Given the description of an element on the screen output the (x, y) to click on. 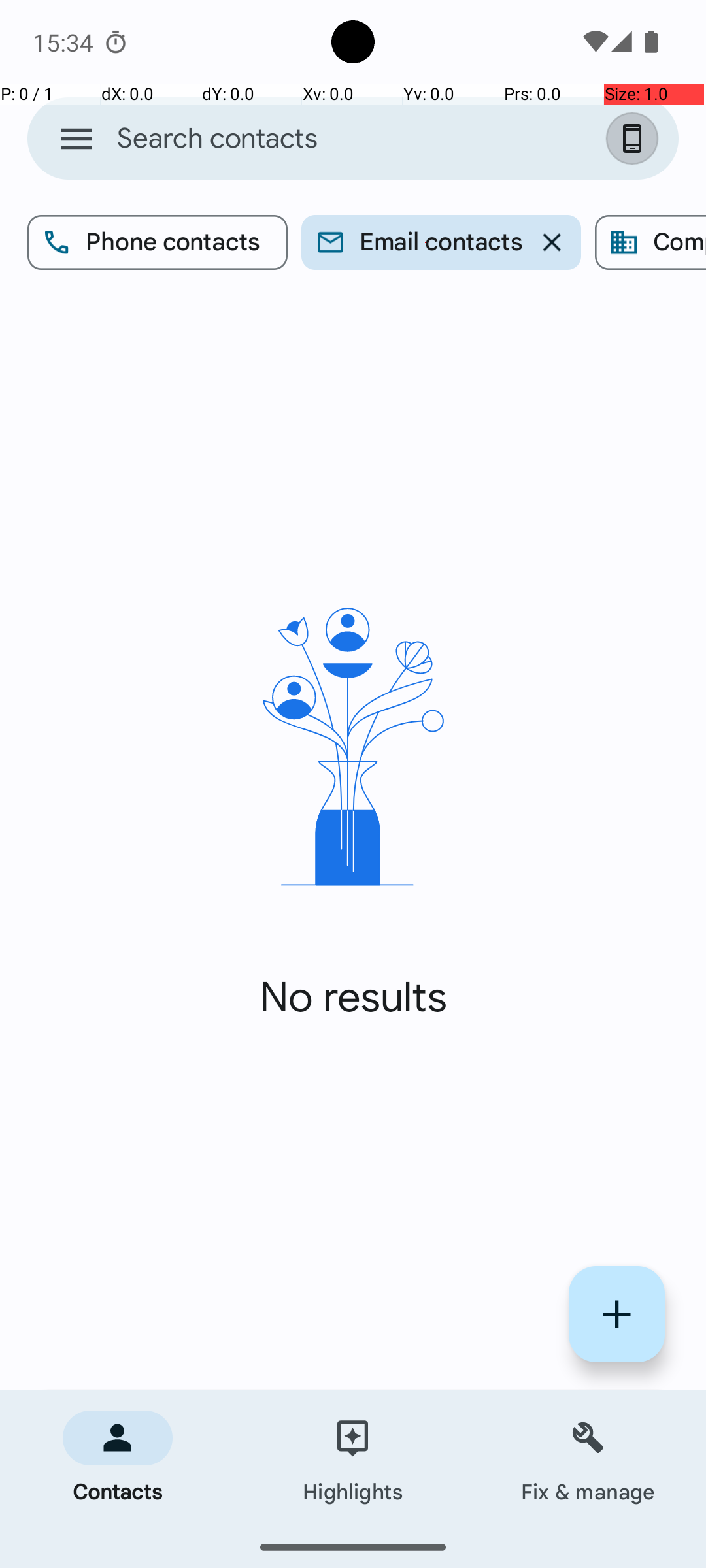
Wifi signal full. Element type: android.widget.FrameLayout (593, 41)
